Given the description of an element on the screen output the (x, y) to click on. 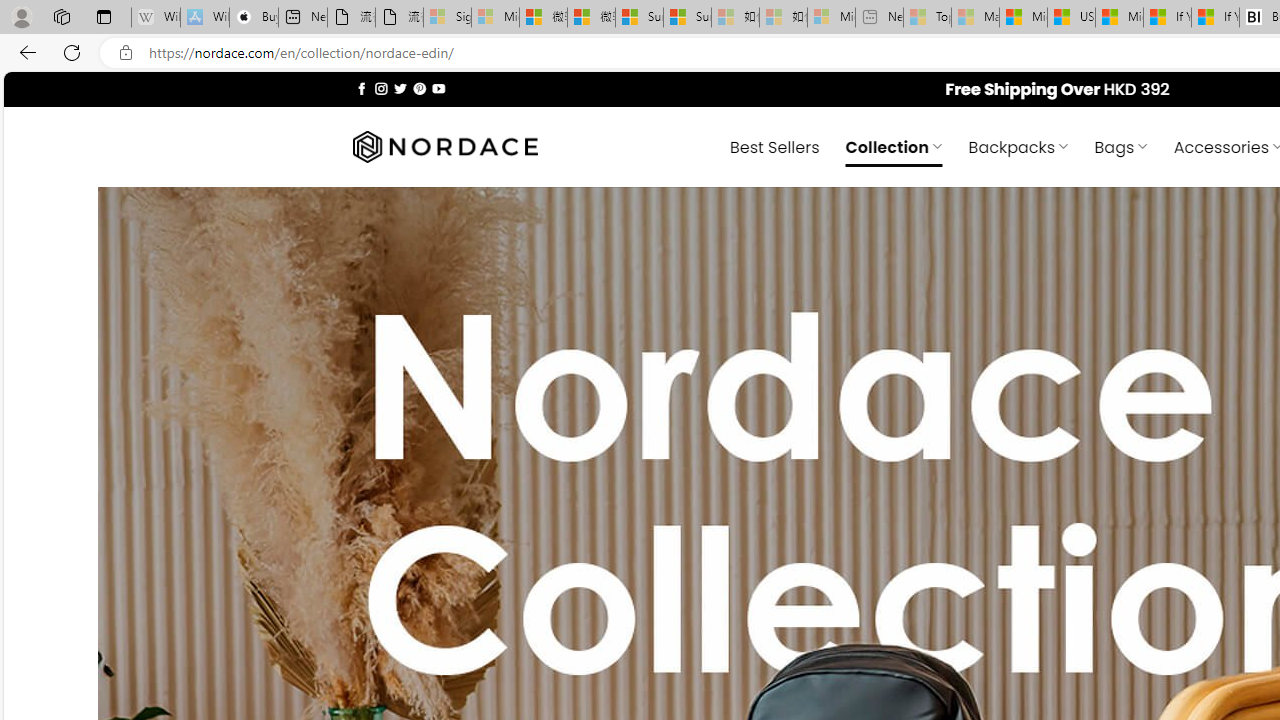
Marine life - MSN - Sleeping (975, 17)
